Given the description of an element on the screen output the (x, y) to click on. 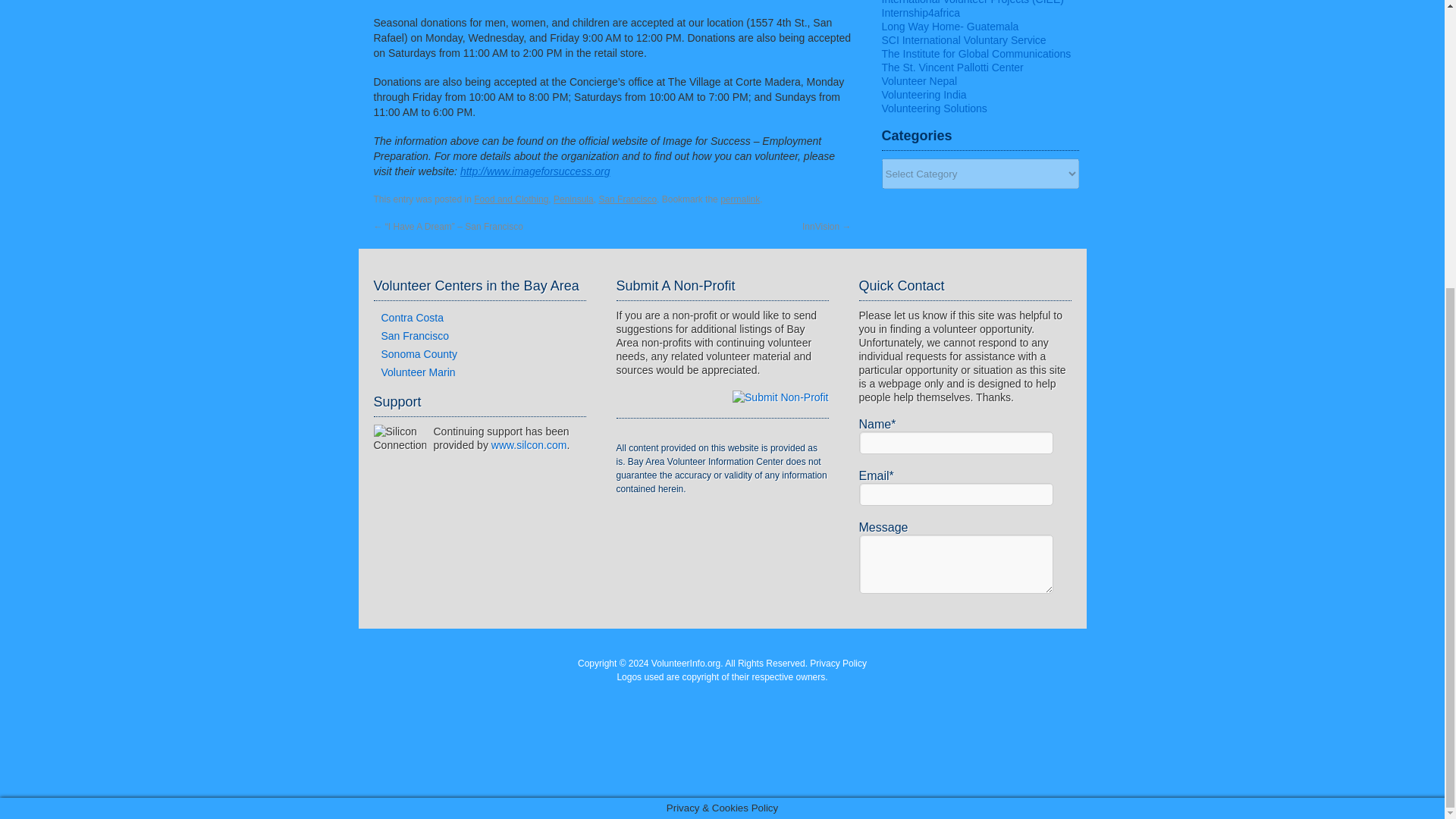
The St. Vincent Pallotti Center (951, 67)
The Institute for Global Communications (975, 53)
Peninsula (573, 199)
San Francisco (627, 199)
Volunteer Nepal (918, 80)
SCI International Voluntary Service (962, 39)
Internship4africa (919, 12)
permalink (740, 199)
Wide variety of opportunities abroad (933, 108)
Long Way Home- Guatemala (948, 26)
Submit Non-Profit (780, 397)
Volunteer center for Marin (417, 372)
Food and Clothing (511, 199)
